Given the description of an element on the screen output the (x, y) to click on. 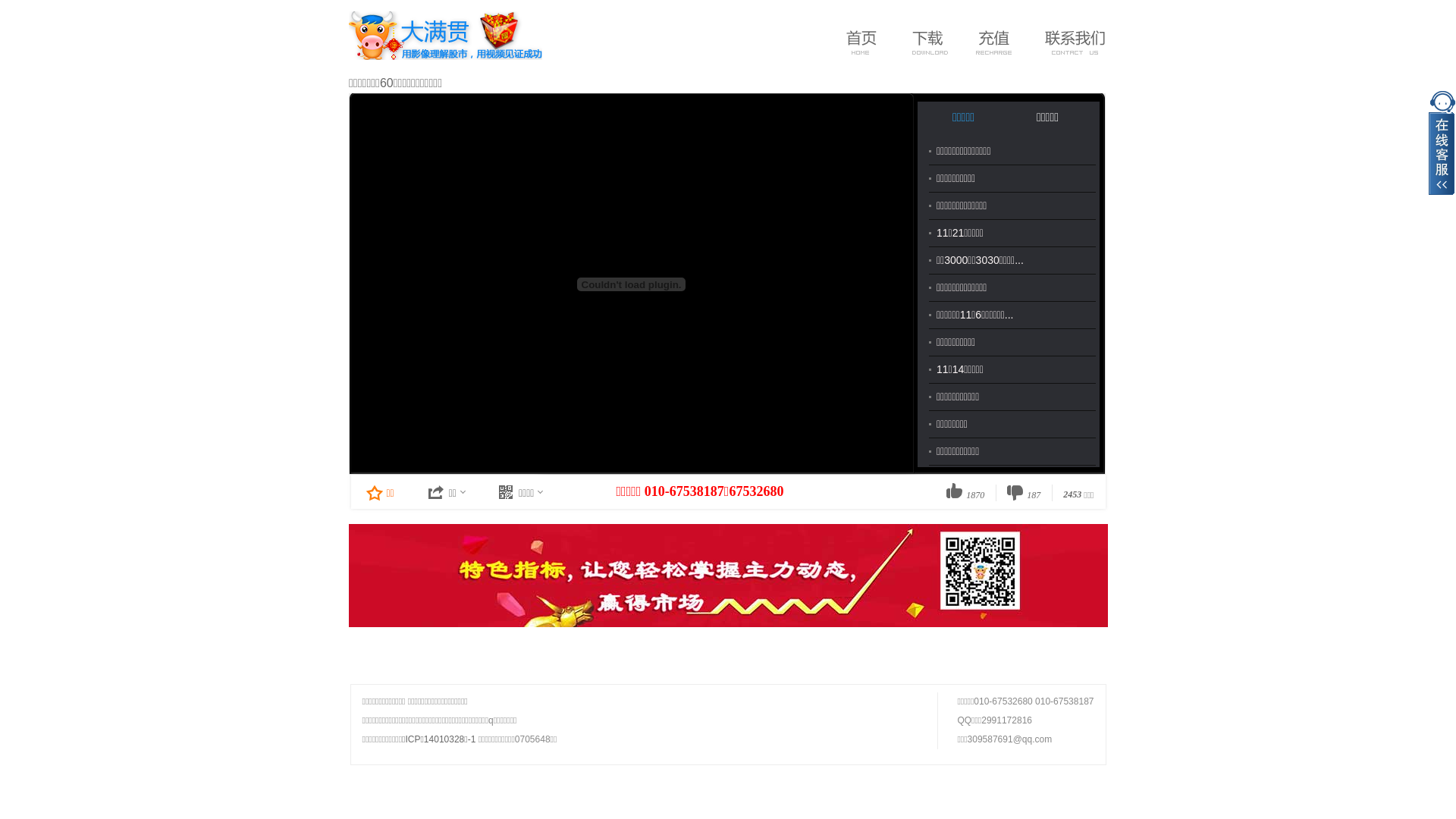
187 Element type: text (1023, 491)
1870 Element type: text (965, 491)
